Given the description of an element on the screen output the (x, y) to click on. 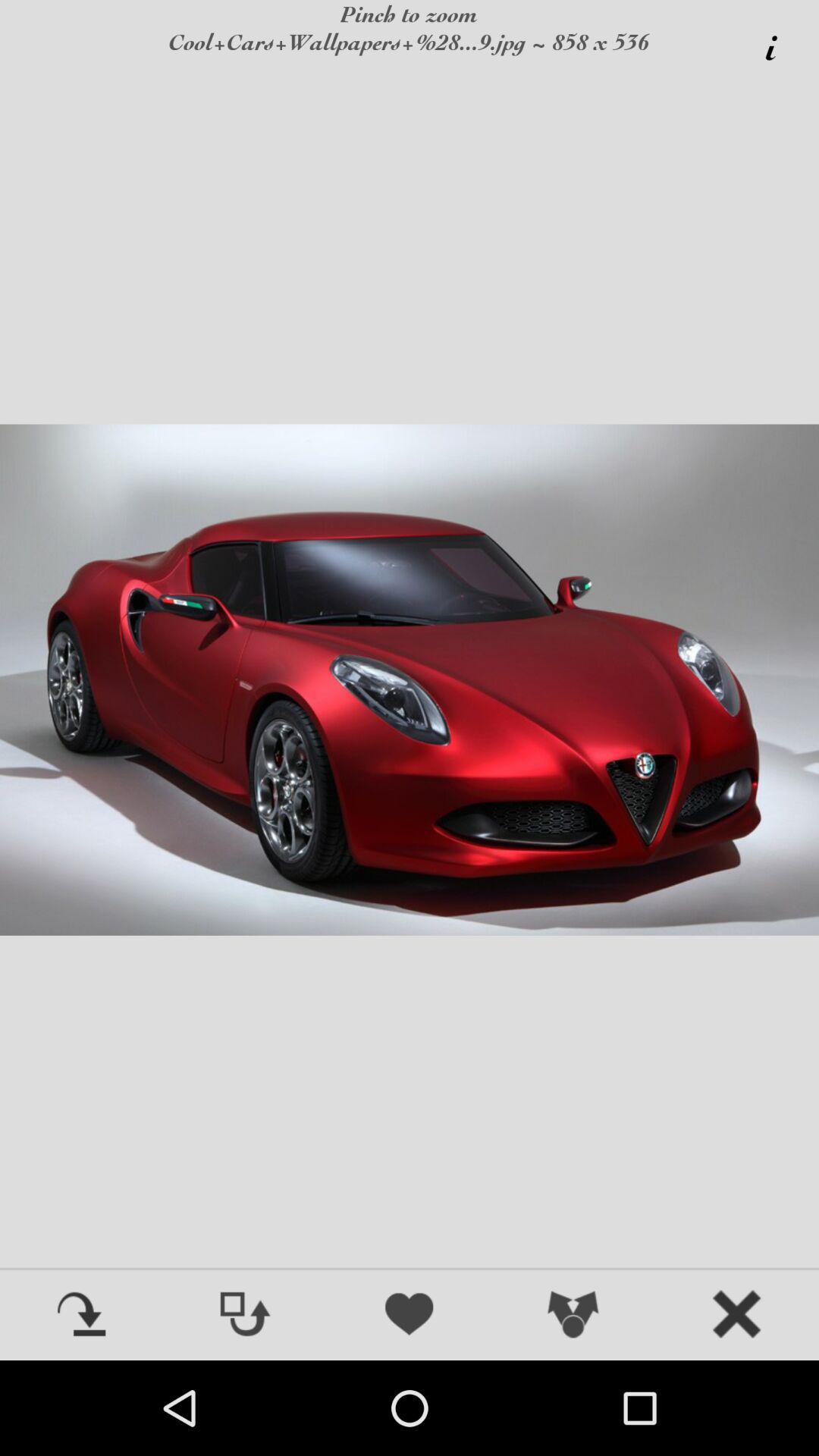
to share (573, 1315)
